Given the description of an element on the screen output the (x, y) to click on. 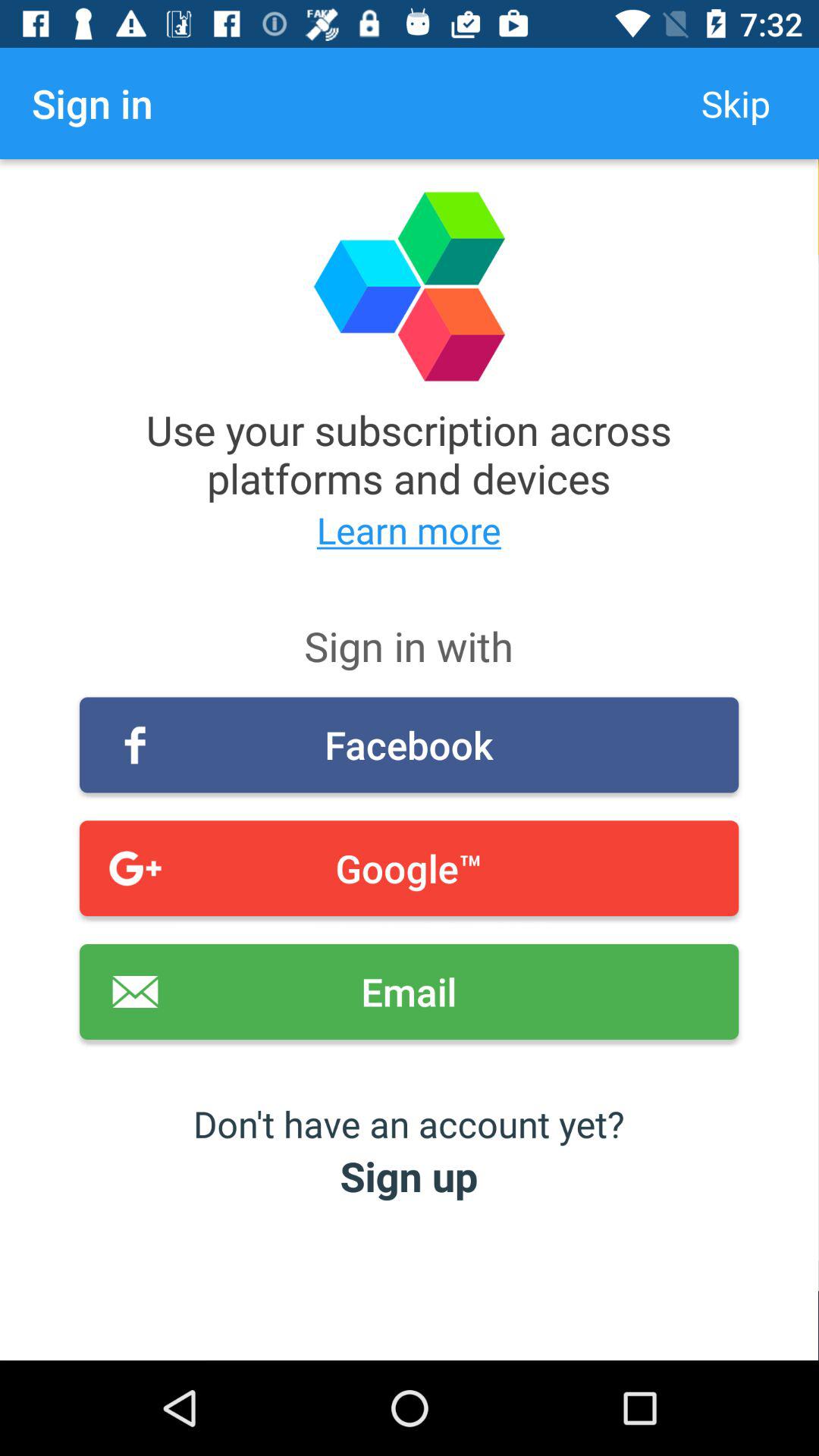
click facebook item (408, 744)
